Given the description of an element on the screen output the (x, y) to click on. 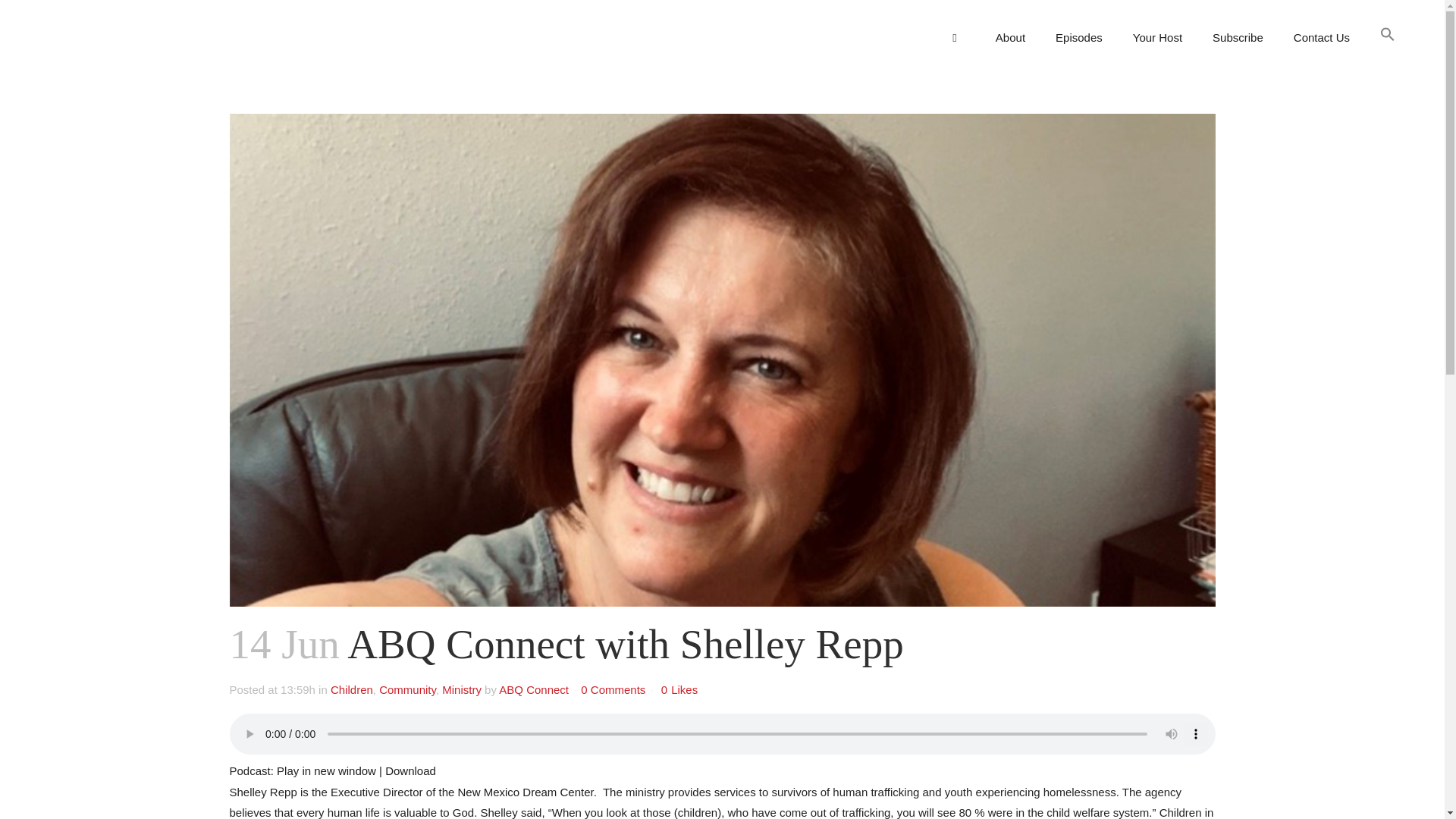
Like this (679, 689)
Episodes (1079, 38)
Community (406, 689)
Play in new window (325, 770)
Download (410, 770)
Subscribe (1237, 38)
Children (351, 689)
Download (410, 770)
Play in new window (325, 770)
New Mexico Dream Center (524, 791)
